Given the description of an element on the screen output the (x, y) to click on. 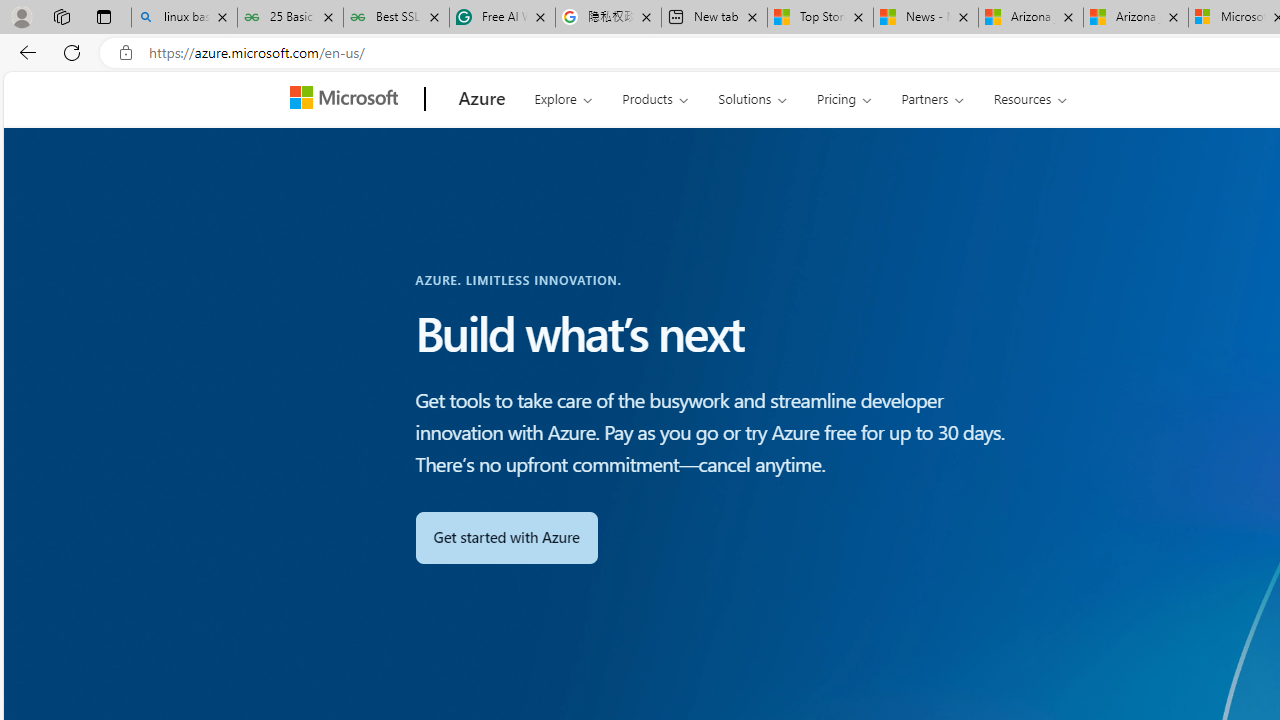
Microsoft (348, 99)
Top Stories - MSN (820, 17)
linux basic - Search (183, 17)
